Given the description of an element on the screen output the (x, y) to click on. 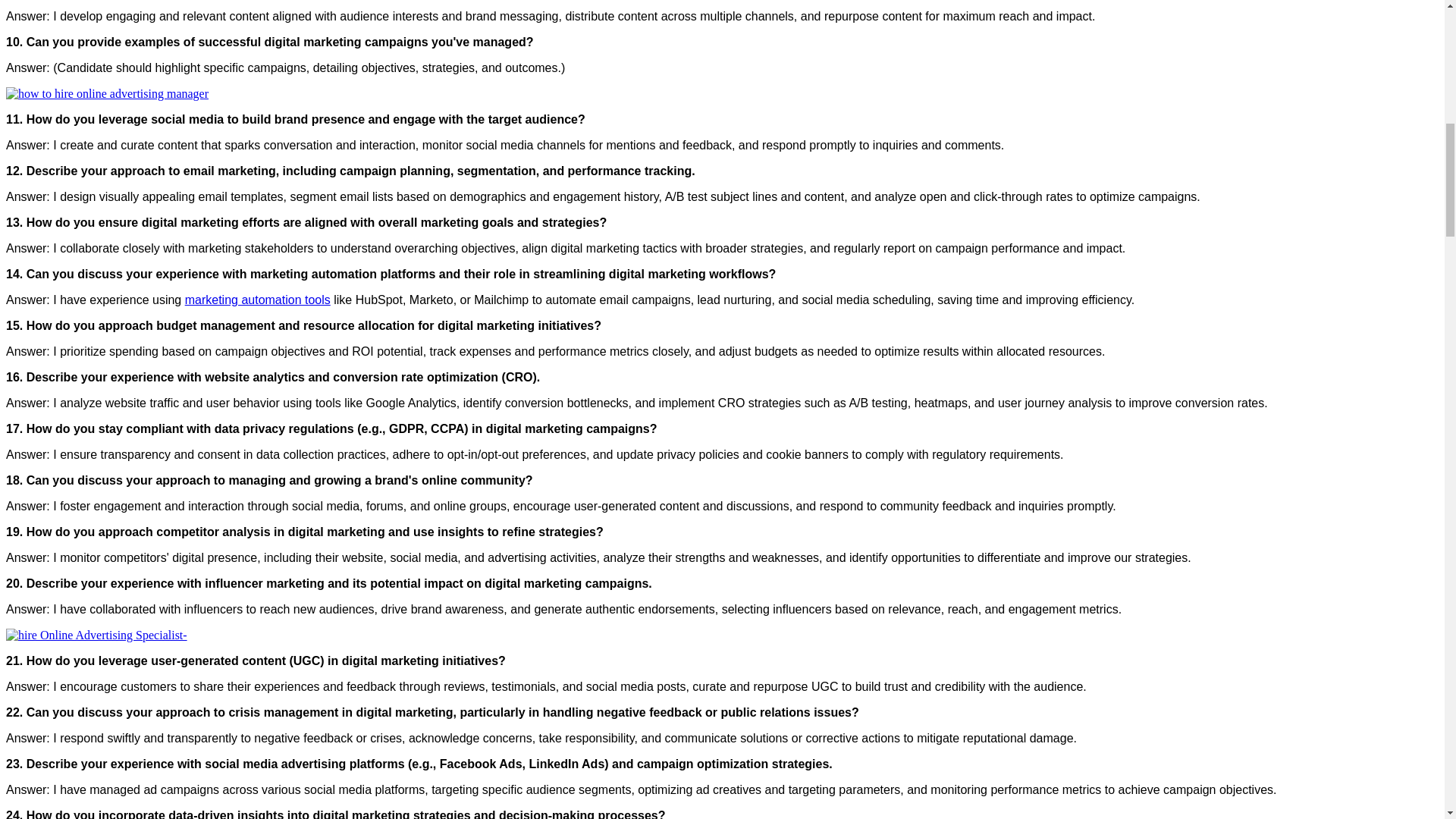
marketing automation tools (257, 299)
